Given the description of an element on the screen output the (x, y) to click on. 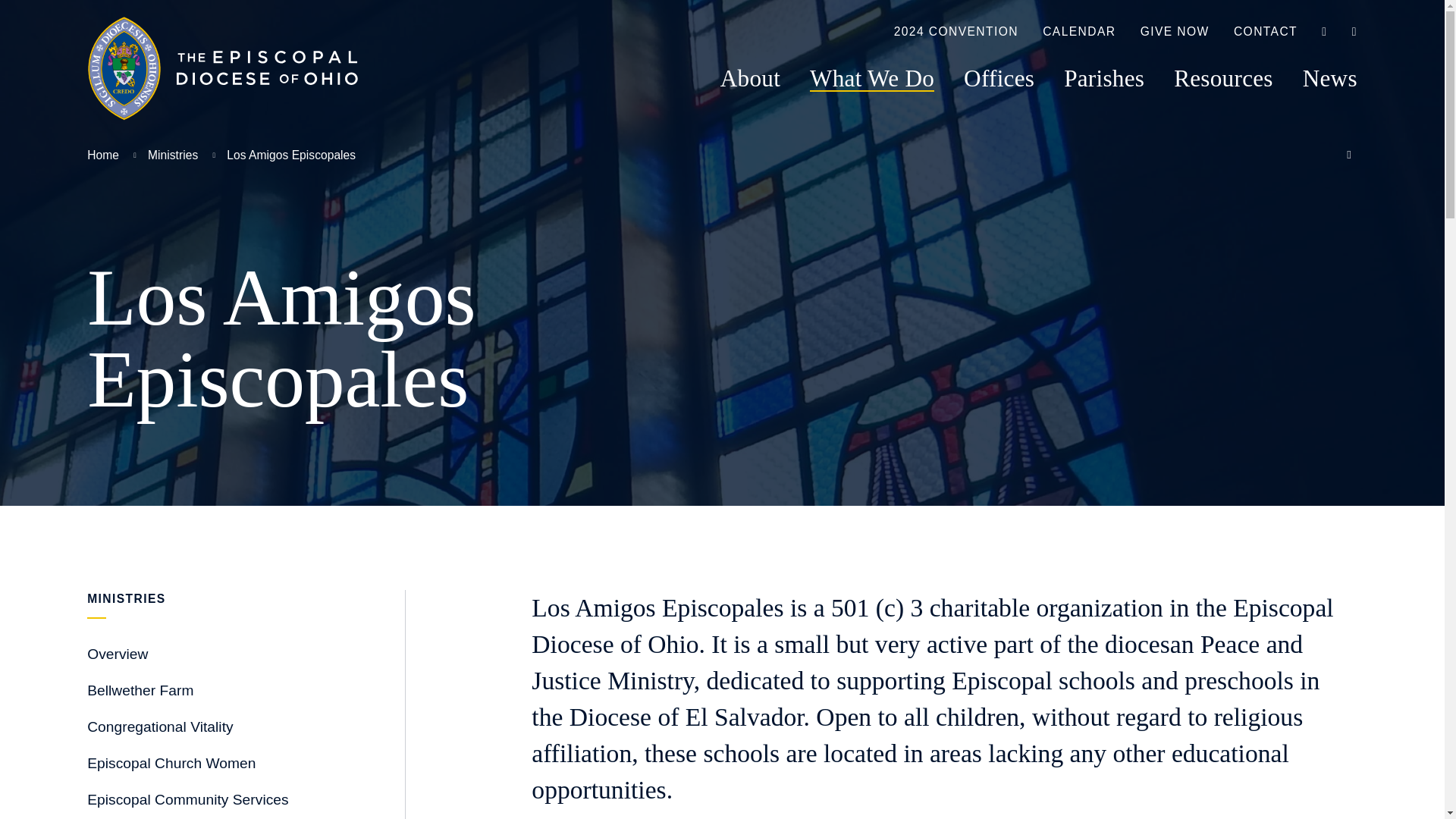
About (750, 78)
What We Do (871, 78)
CONTACT (1265, 33)
Offices (998, 78)
News (1329, 78)
CALENDAR (1078, 33)
GIVE NOW (1174, 33)
Parishes (1104, 78)
2024 CONVENTION (955, 33)
Resources (1222, 78)
